Given the description of an element on the screen output the (x, y) to click on. 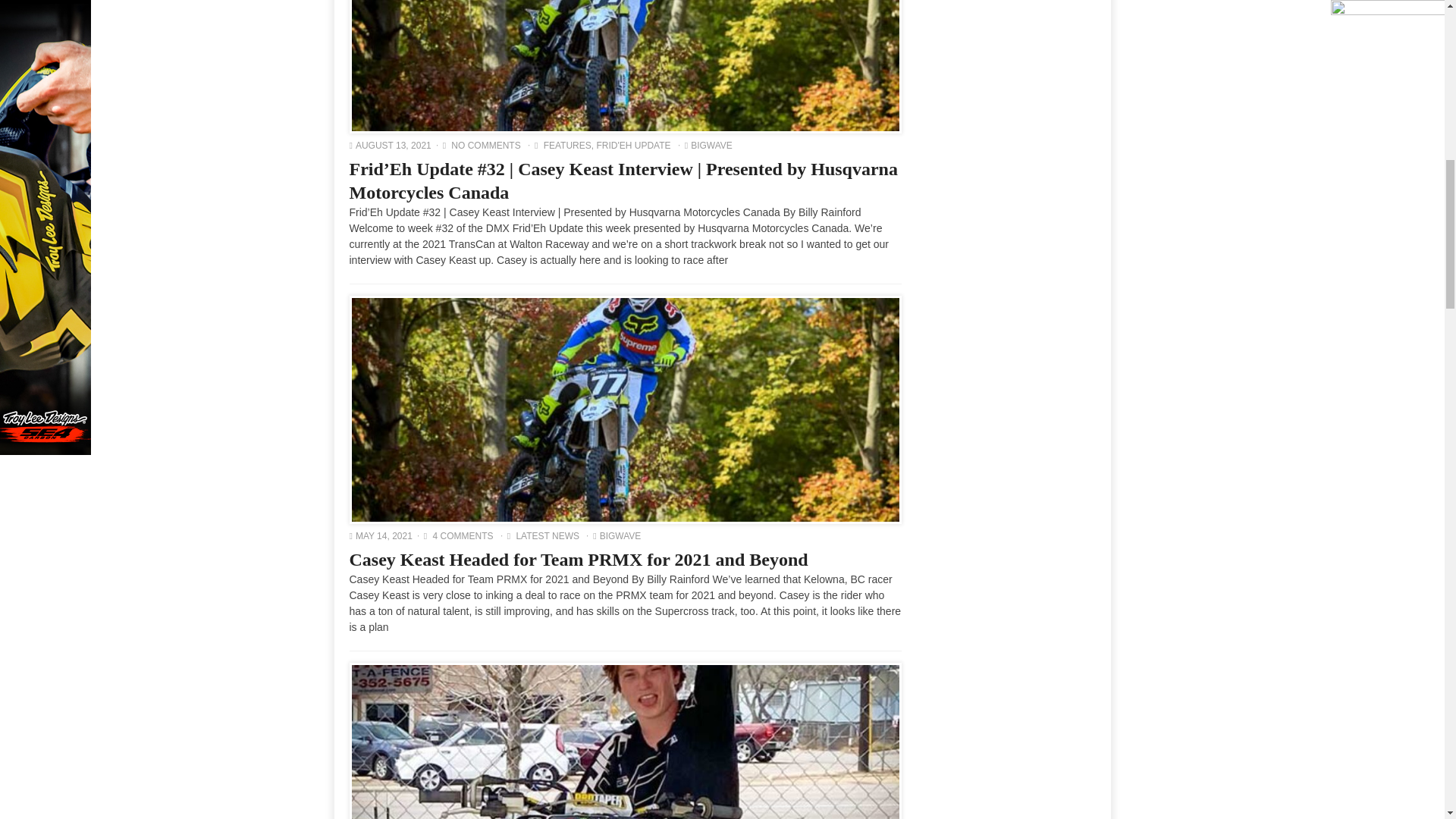
Posts by Bigwave (620, 535)
Posts by Bigwave (711, 145)
No More Supercross for Casey Keast in 2021 (625, 742)
Casey Keast Headed for Team PRMX for 2021 and Beyond (625, 409)
